Given the description of an element on the screen output the (x, y) to click on. 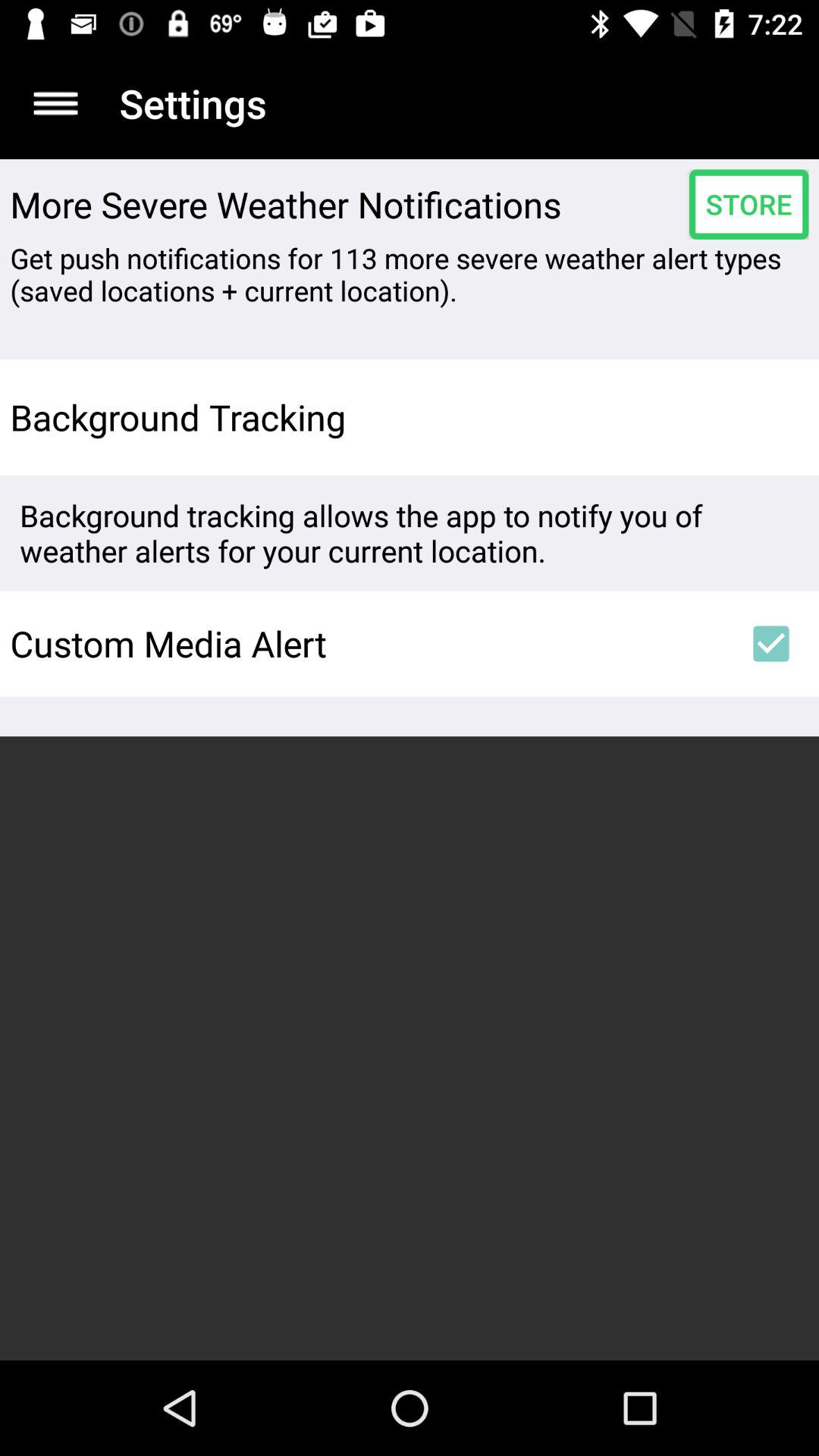
select the settings option (55, 103)
